Given the description of an element on the screen output the (x, y) to click on. 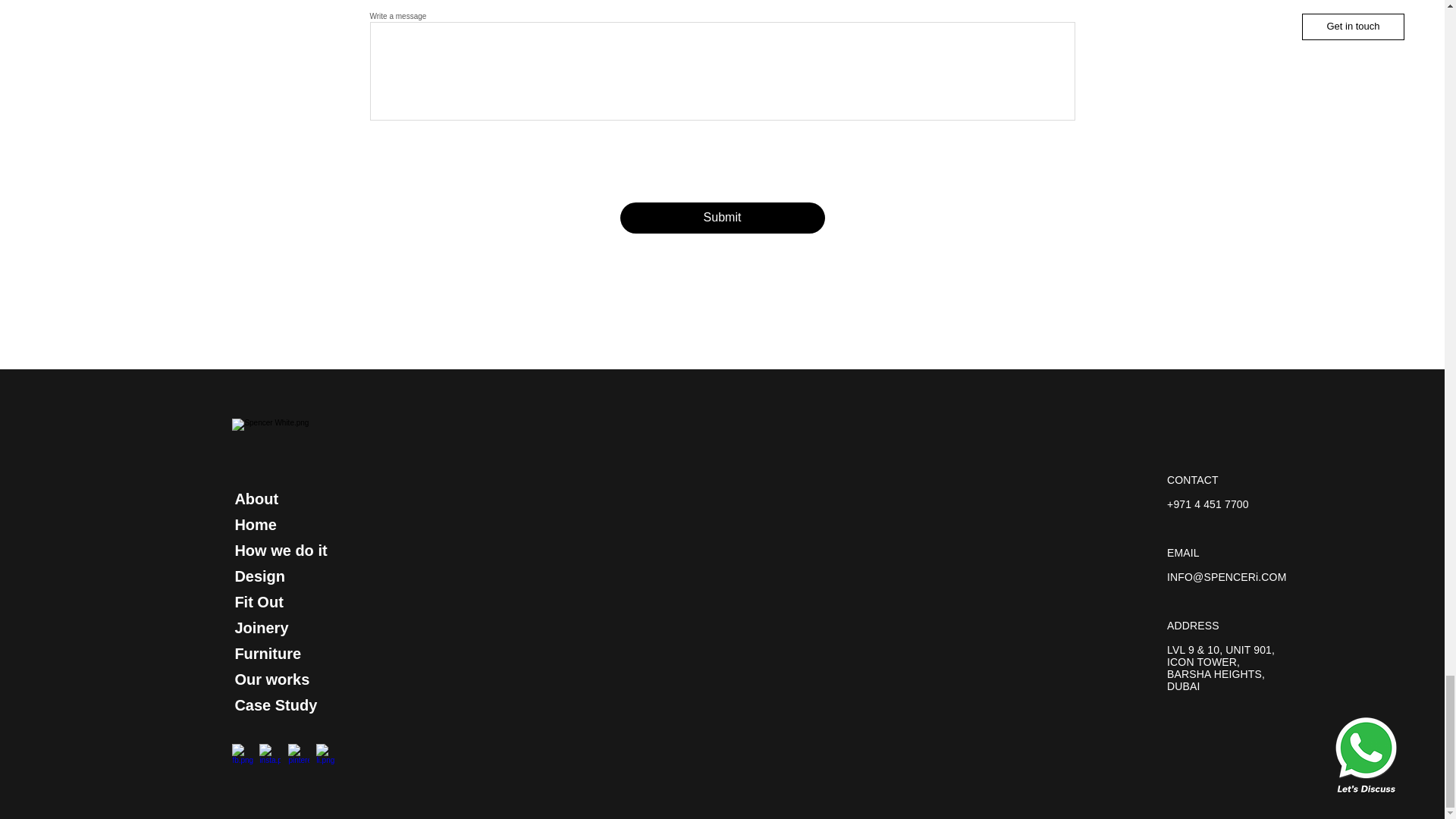
Submit (722, 217)
Our works (272, 679)
Design (259, 576)
Joinery (261, 627)
About (256, 498)
BARSHA HEIGHTS, (1216, 674)
Furniture (267, 653)
How we do it (280, 550)
Case Study (275, 704)
Home (255, 524)
Fit Out (258, 601)
